Given the description of an element on the screen output the (x, y) to click on. 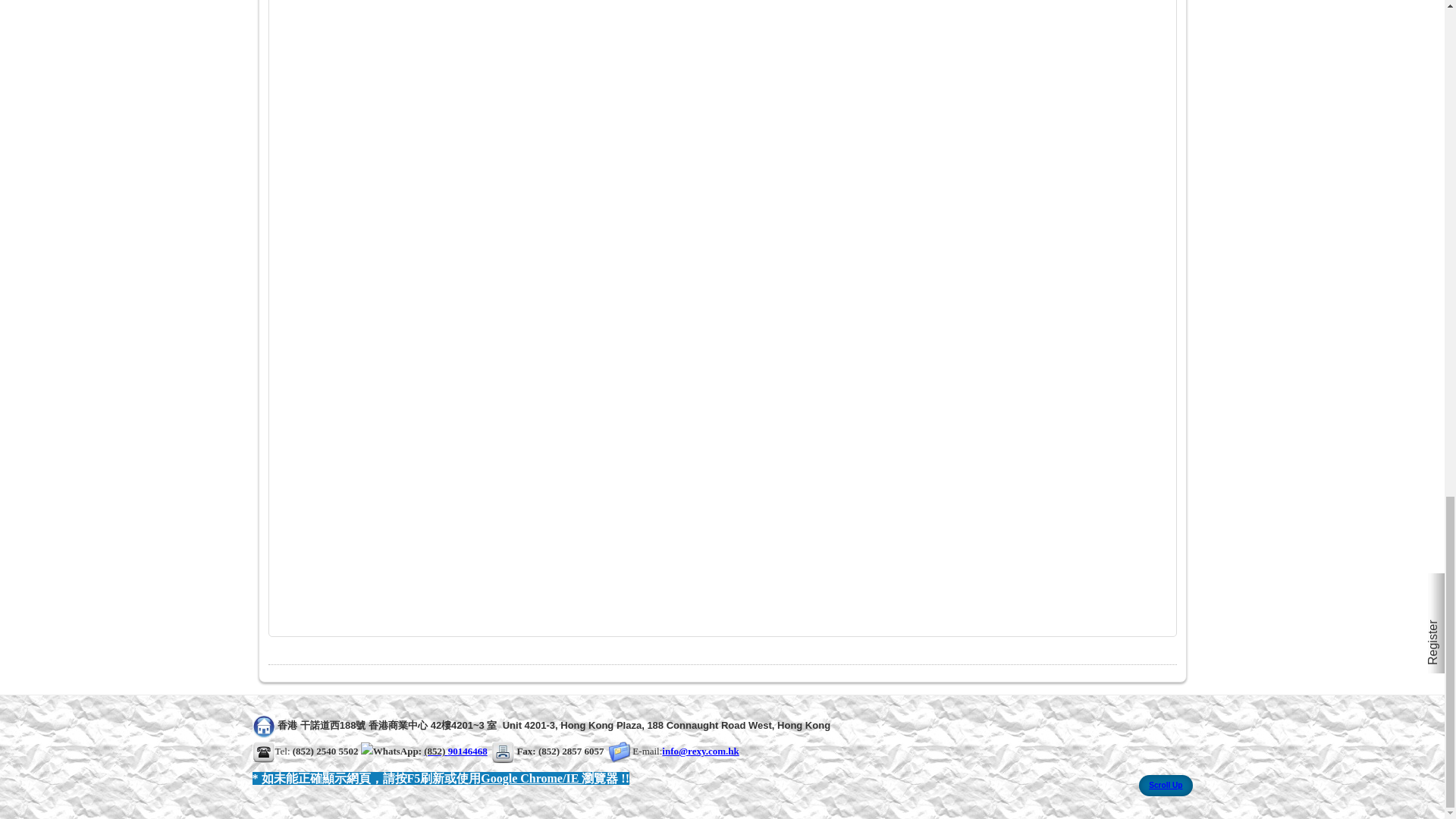
Scroll Up (1165, 785)
Scroll Up (1165, 785)
